Given the description of an element on the screen output the (x, y) to click on. 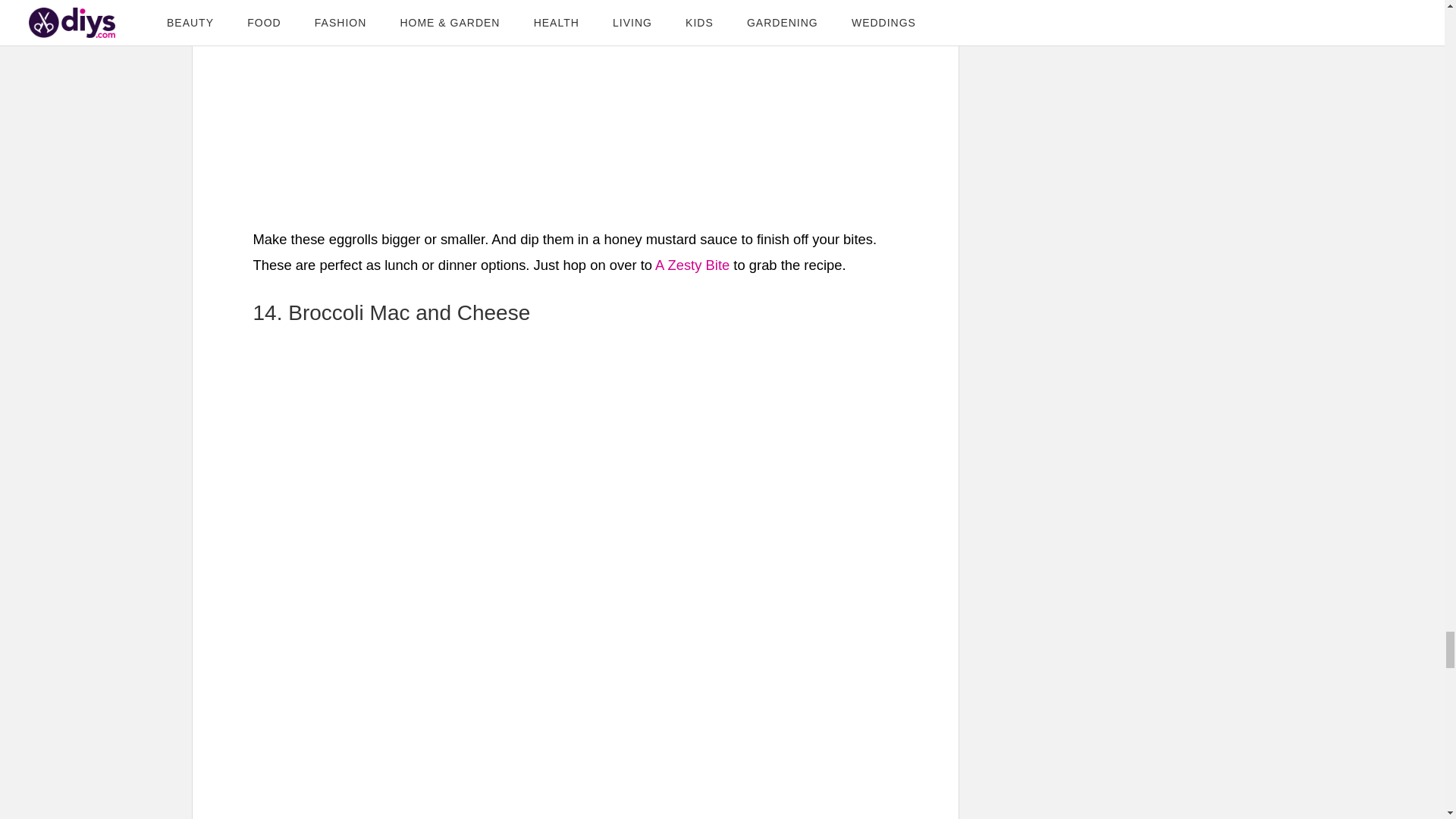
A Zesty Bite (692, 264)
